Given the description of an element on the screen output the (x, y) to click on. 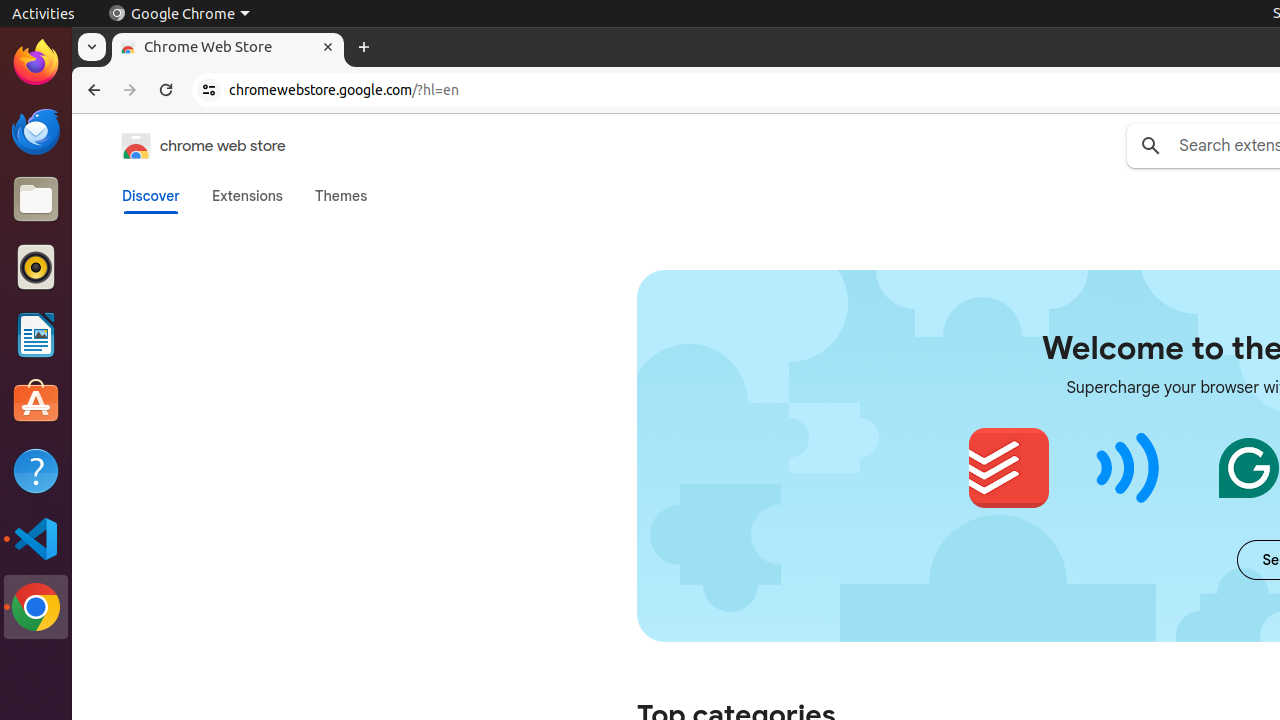
LibreOffice Writer Element type: push-button (36, 334)
Rhythmbox Element type: push-button (36, 267)
Forward Element type: push-button (130, 90)
Files Element type: push-button (36, 199)
Chrome Web Store logo chrome web store Element type: link (183, 146)
